Given the description of an element on the screen output the (x, y) to click on. 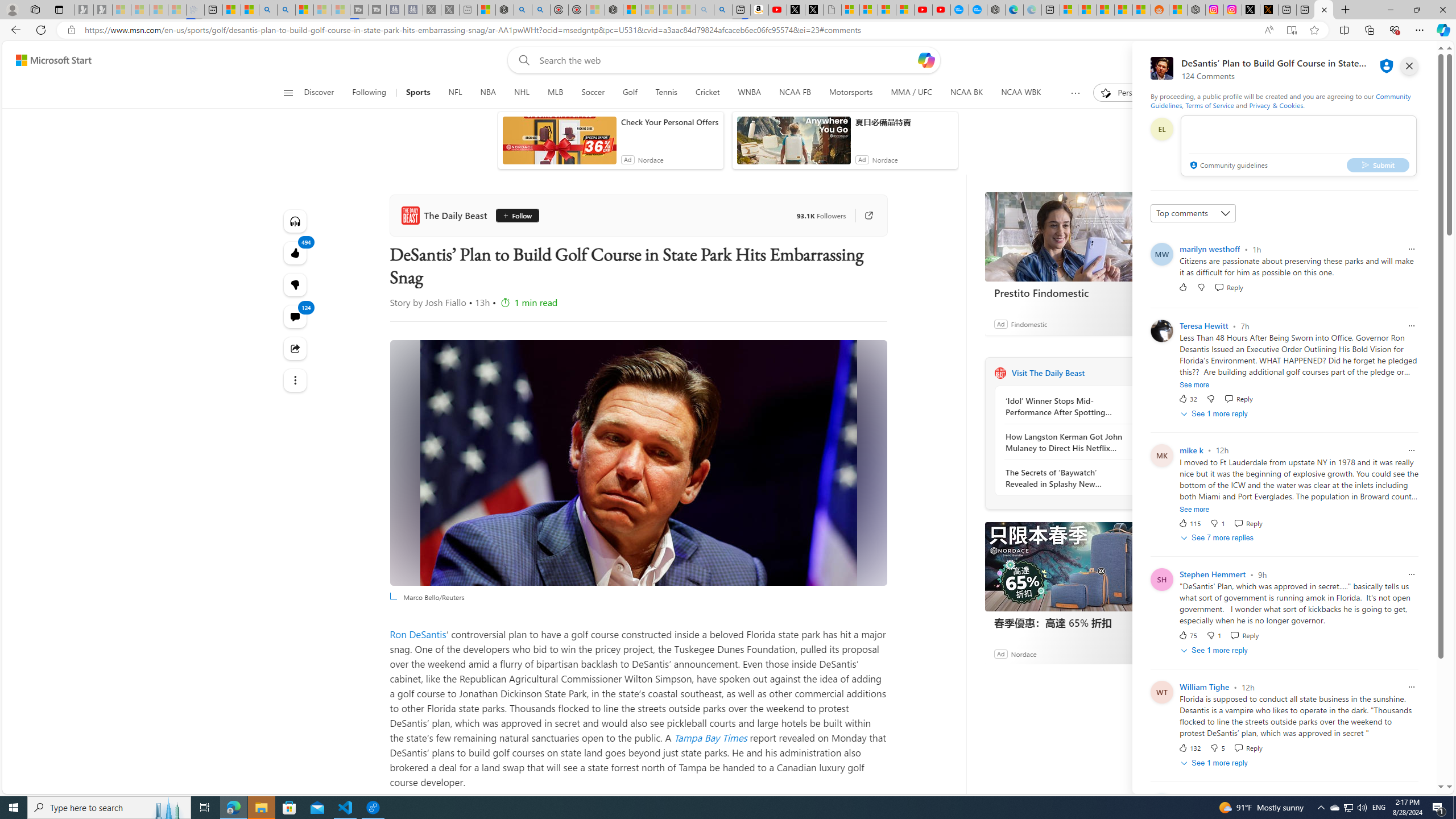
Tampa Bay Times (710, 737)
Motorsports (850, 92)
Community guidelines (1228, 165)
115 Like (1189, 522)
See more (295, 380)
Tennis (666, 92)
Shanghai, China weather forecast | Microsoft Weather (1086, 9)
Enter Immersive Reader (F9) (1291, 29)
Streaming Coverage | T3 - Sleeping (358, 9)
Share this story (295, 348)
Wildlife - MSN (486, 9)
